Given the description of an element on the screen output the (x, y) to click on. 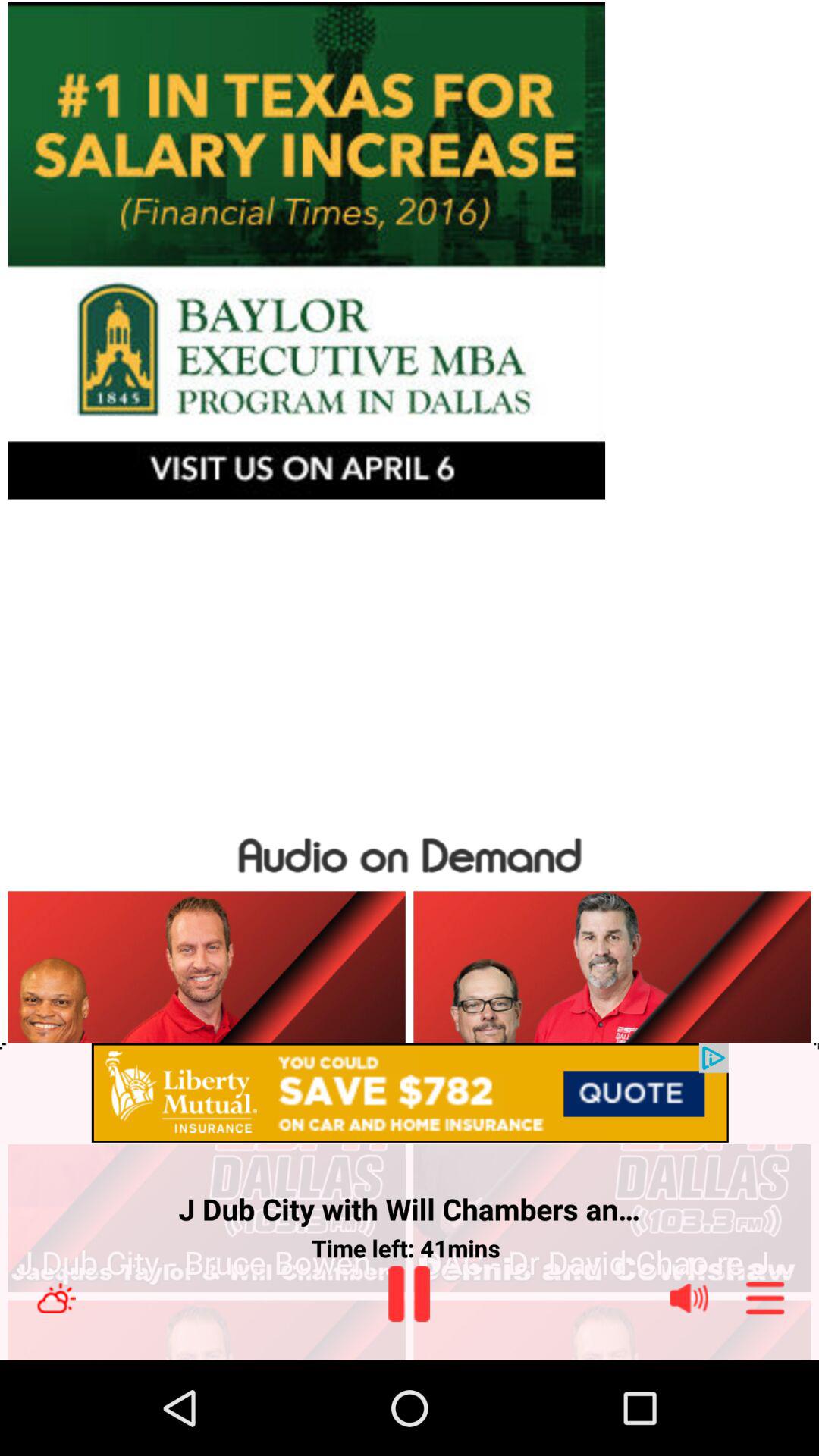
this button controls the sound or mute (688, 1298)
